Given the description of an element on the screen output the (x, y) to click on. 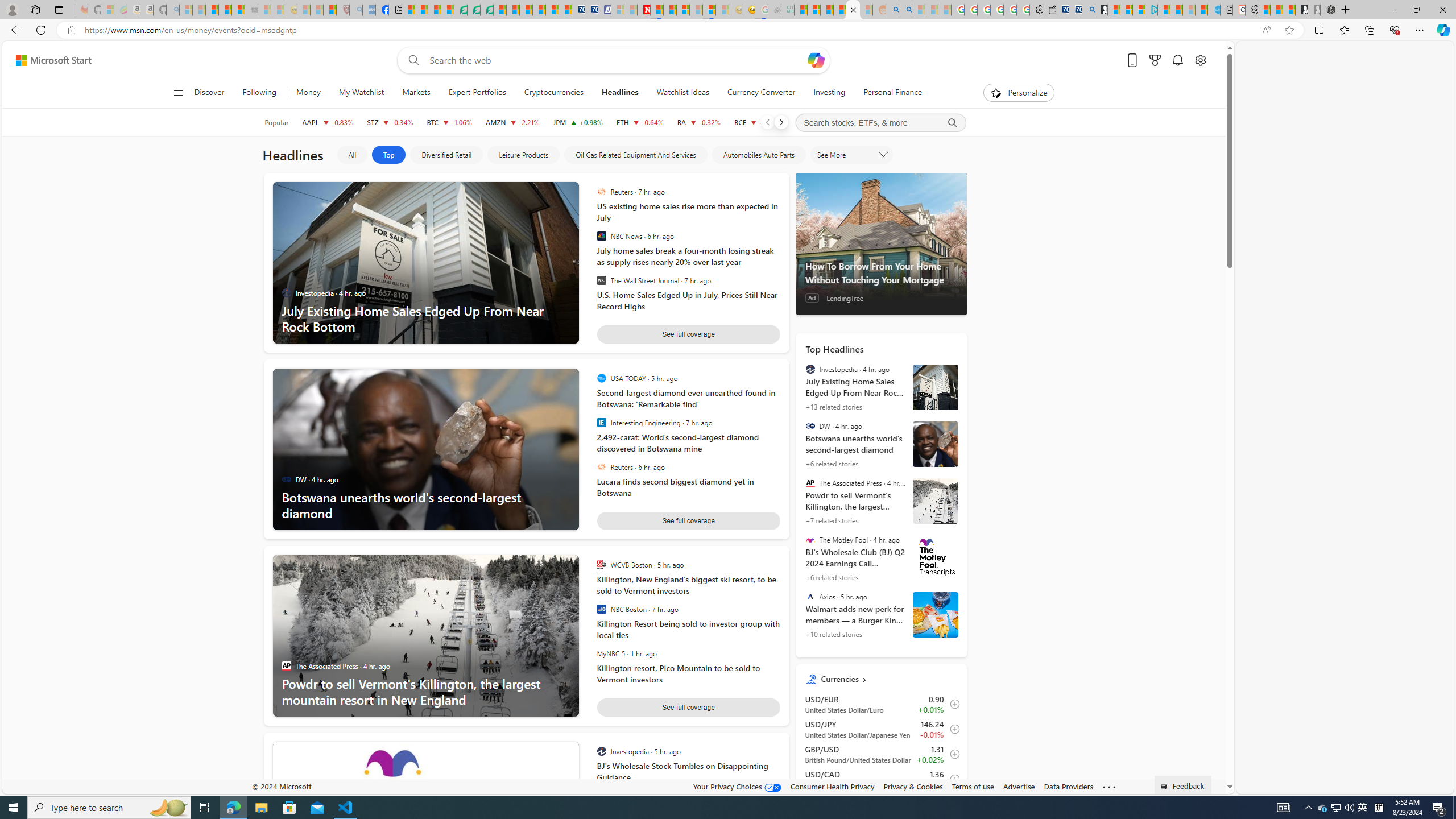
Investopedia 5 hr. ago (685, 751)
See More (850, 154)
My Watchlist (361, 92)
Skip to footer (46, 59)
Expert Portfolios (477, 92)
Headlines (619, 92)
Microsoft Start (1163, 9)
